Given the description of an element on the screen output the (x, y) to click on. 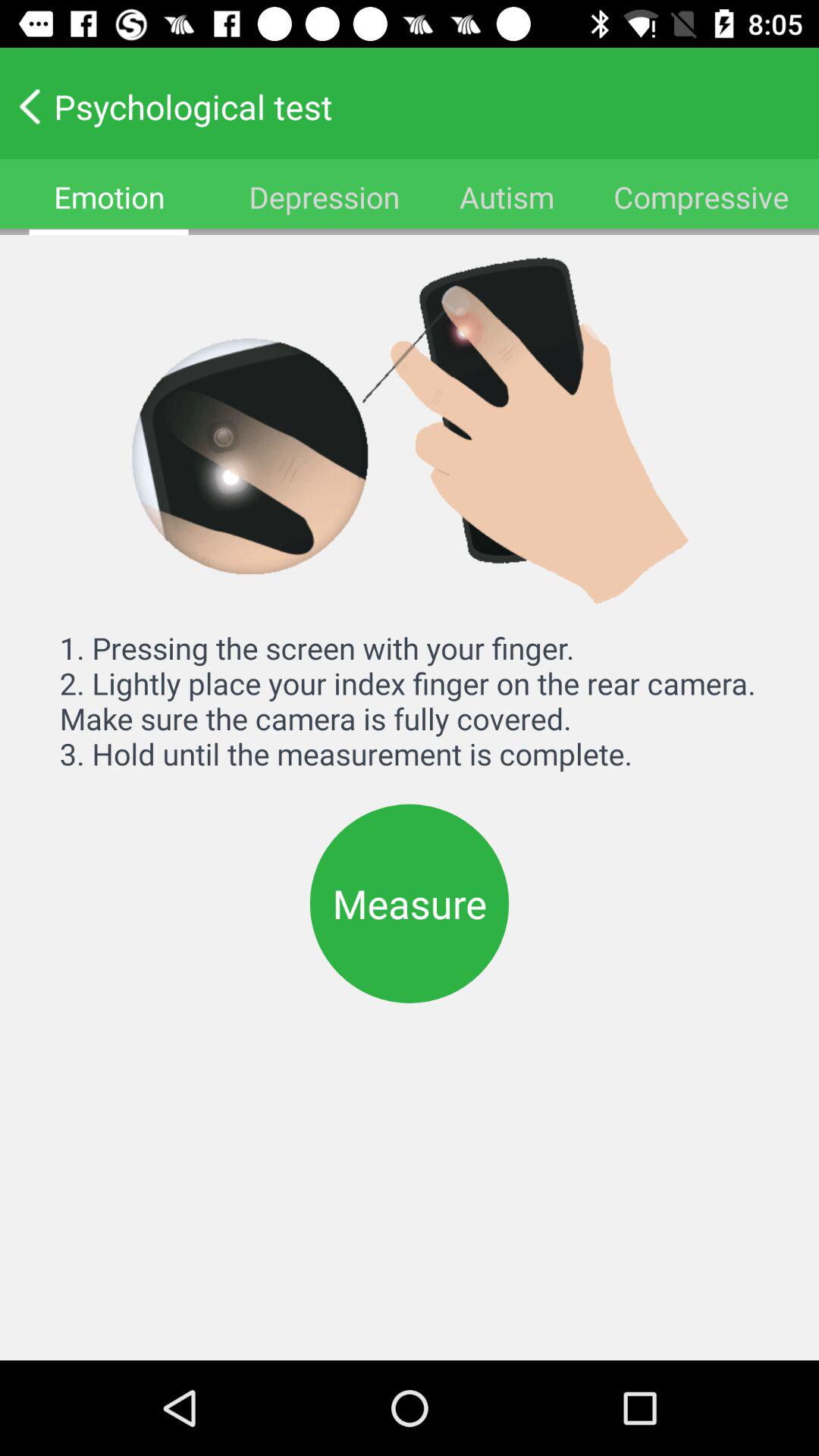
press icon next to depression icon (109, 196)
